Given the description of an element on the screen output the (x, y) to click on. 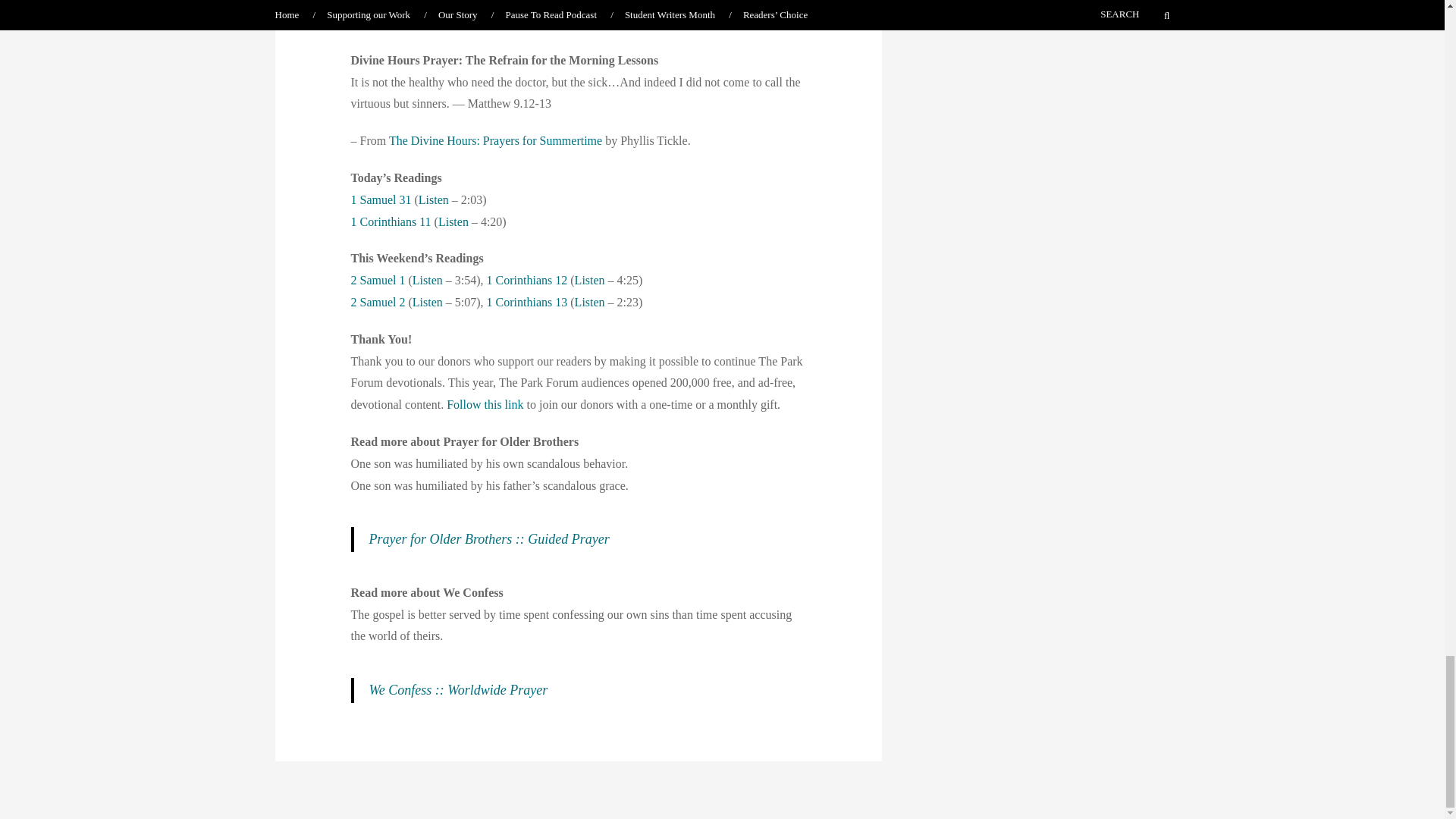
1 Samuel 31 (380, 199)
Listen (590, 301)
Follow this link (484, 404)
Listen (453, 221)
The Divine Hours: Prayers for Summertime (495, 140)
Prayer for Older Brothers :: Guided Prayer (488, 539)
1 Corinthians 11 (390, 221)
Listen (433, 199)
Listen (427, 301)
Listen (590, 279)
